Given the description of an element on the screen output the (x, y) to click on. 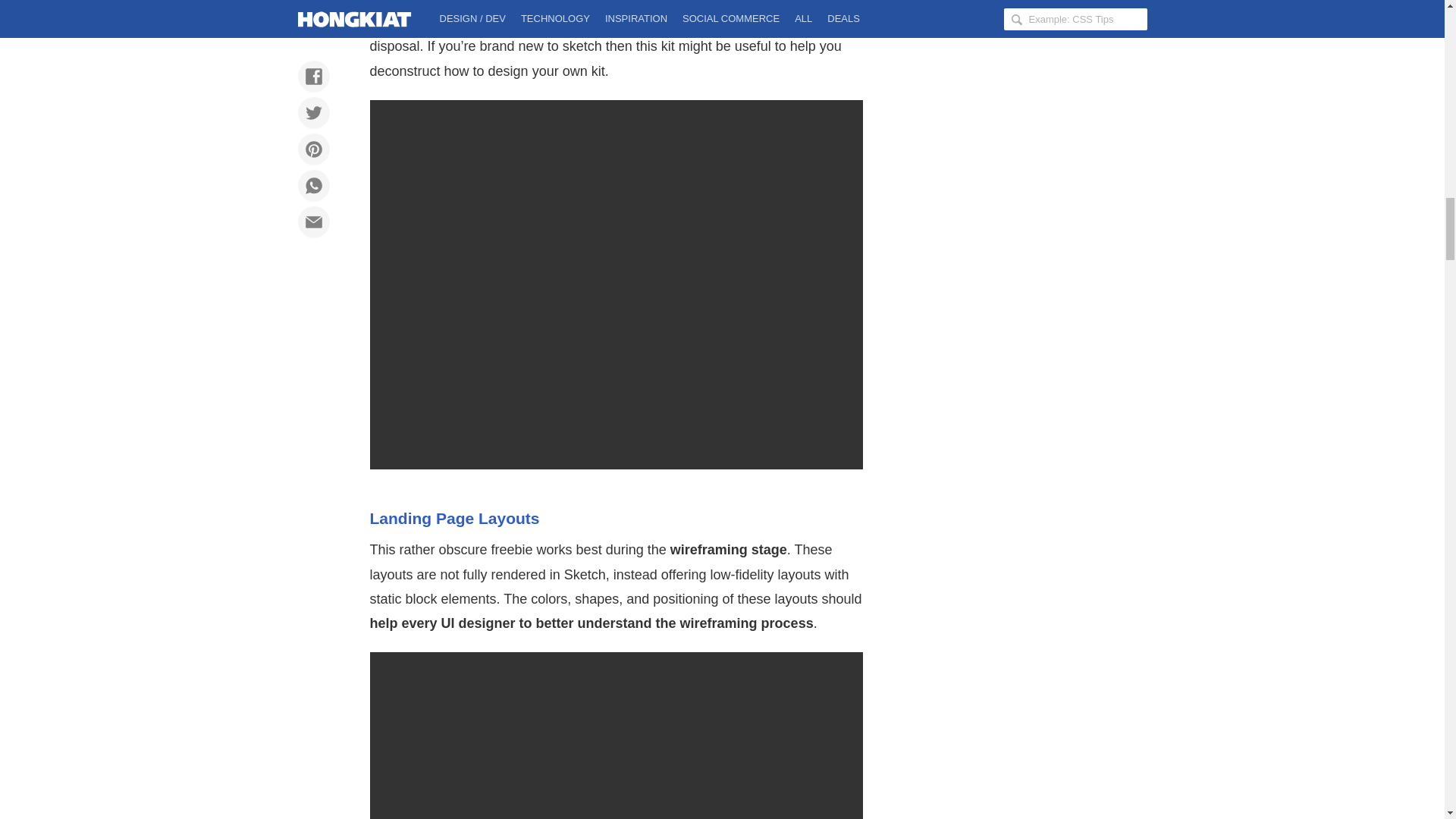
Landing Page Layouts (454, 518)
